Given the description of an element on the screen output the (x, y) to click on. 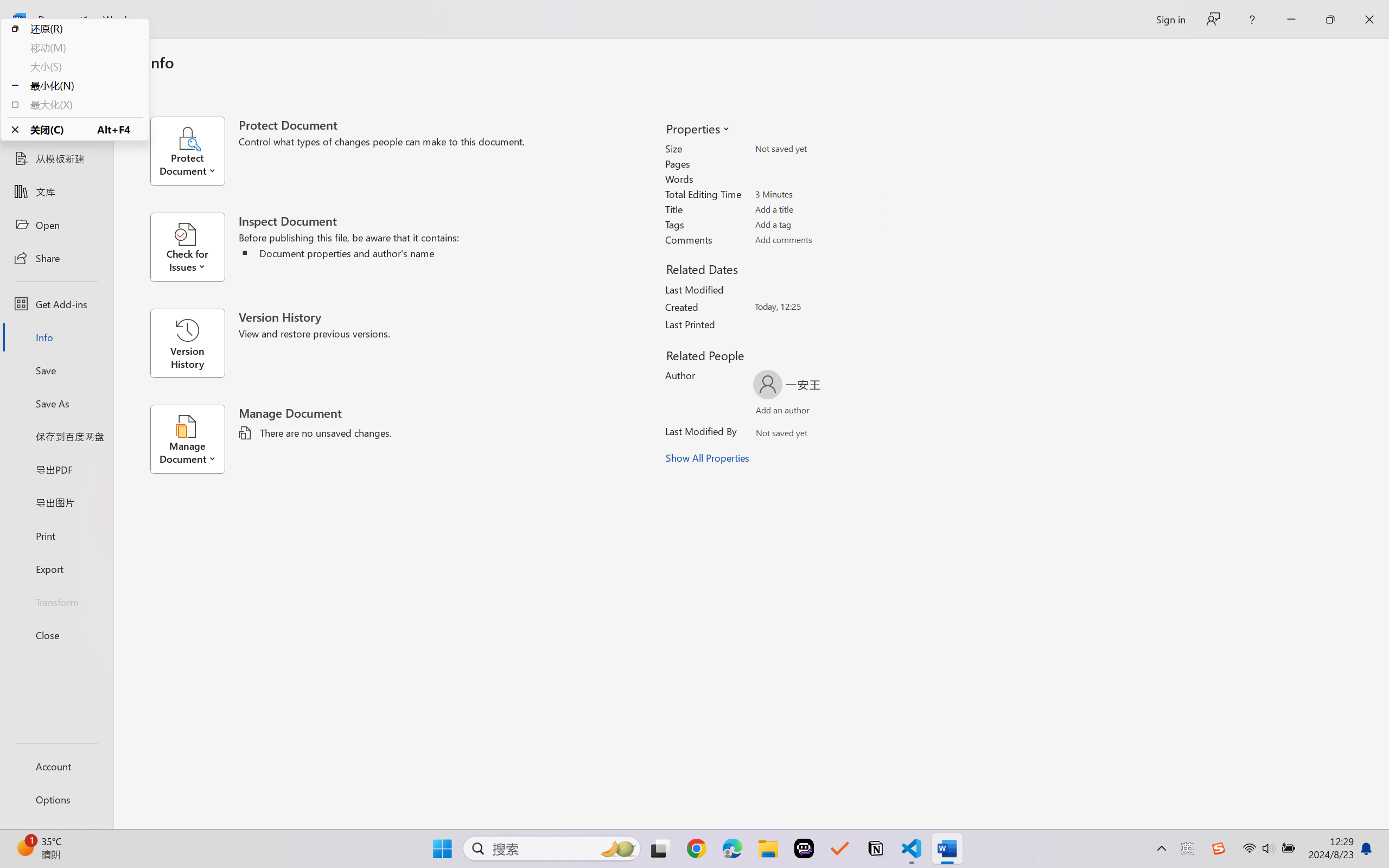
Browse Address Book (852, 435)
Back (56, 57)
Pages (818, 163)
Version History (187, 343)
New (56, 125)
Add an author (772, 411)
